Given the description of an element on the screen output the (x, y) to click on. 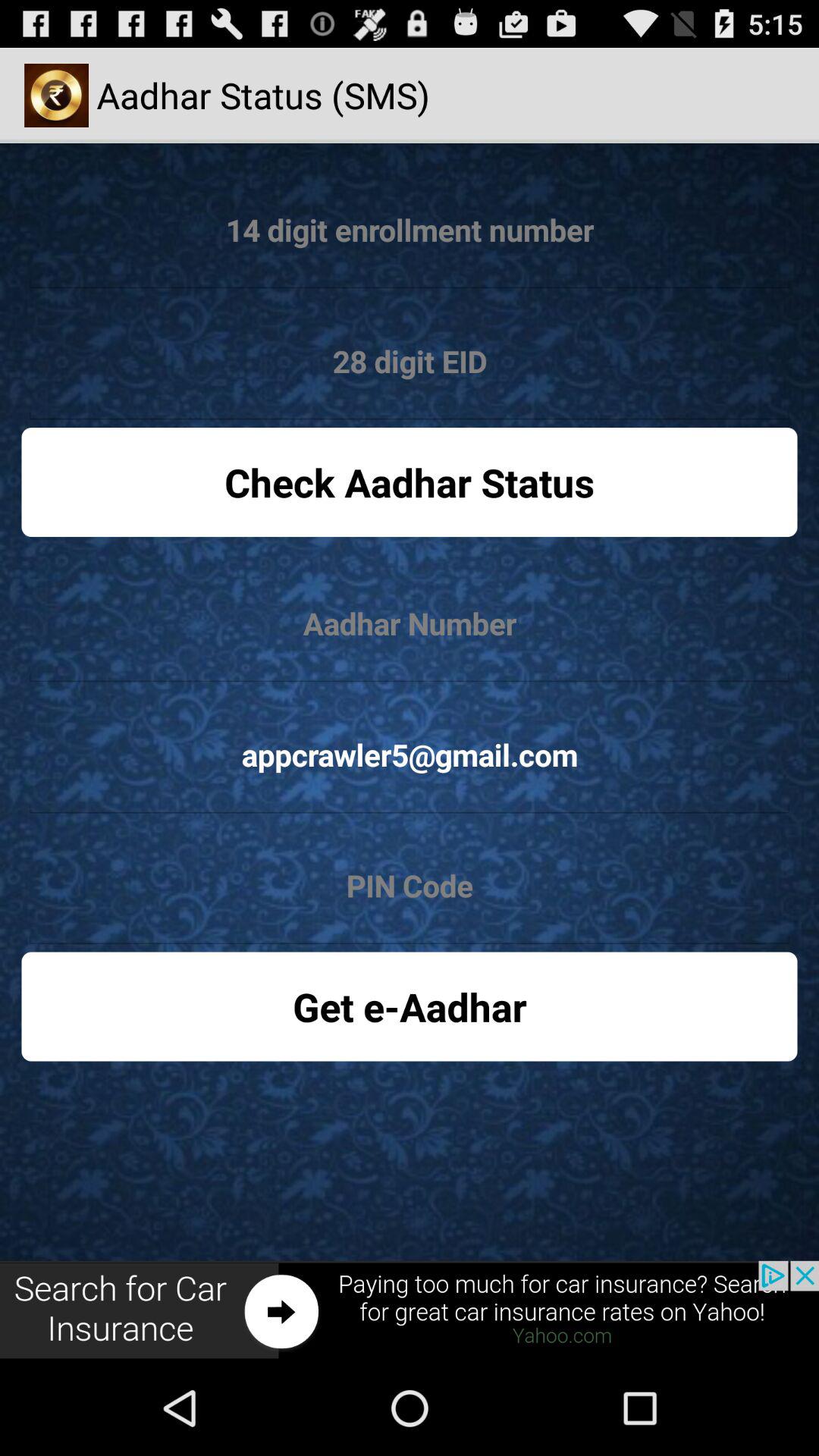
view advertisement (409, 1310)
